Given the description of an element on the screen output the (x, y) to click on. 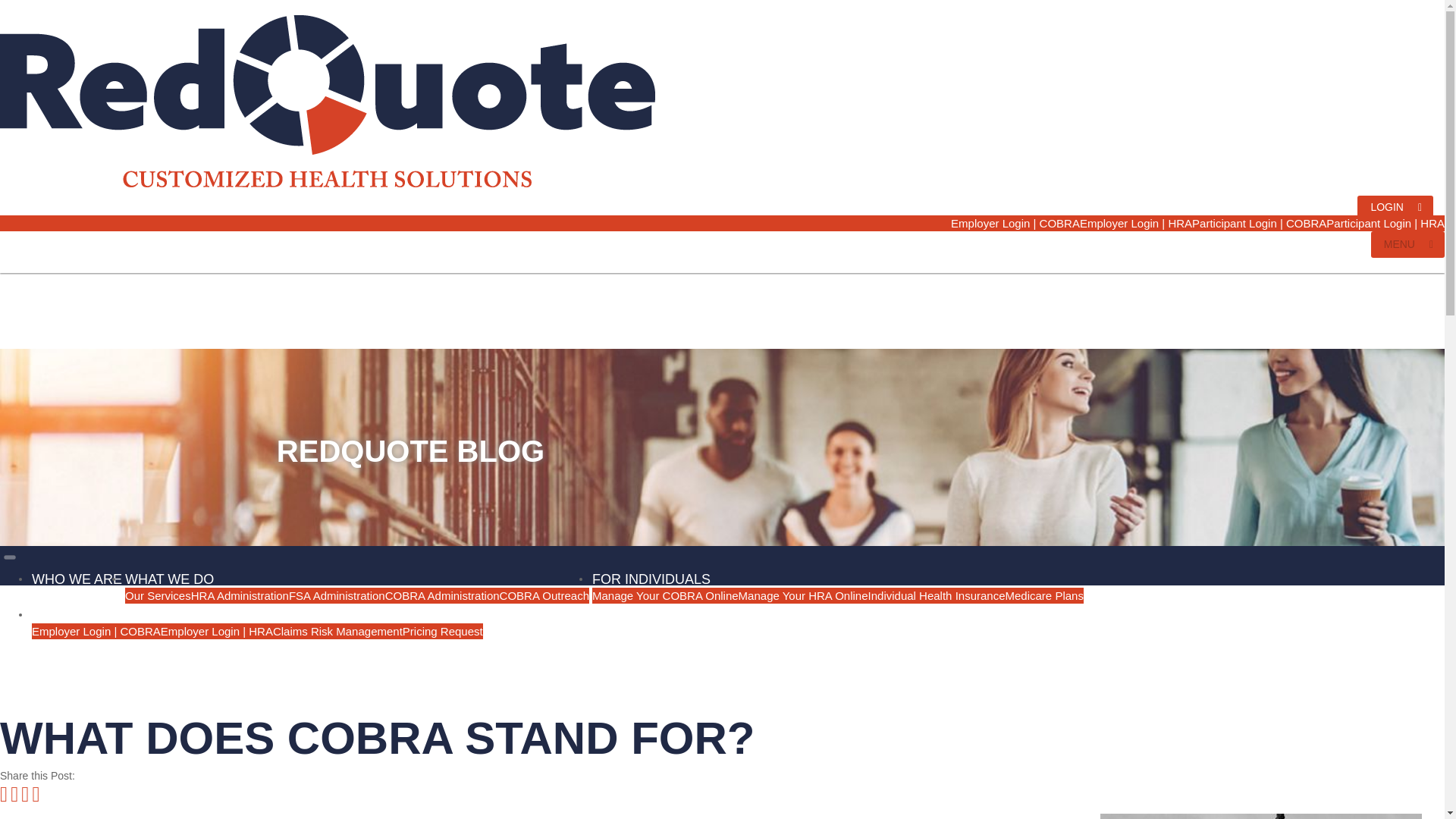
Manage Your COBRA Online (665, 594)
HRA Administration (239, 594)
FSA Administration (336, 594)
LOGIN (1394, 206)
Pricing Request (443, 631)
Claims Risk Management (338, 631)
Medicare Plans (1044, 594)
WHO WE ARE (77, 574)
COBRA Administration (442, 594)
COBRA Outreach (544, 594)
Our Services (157, 594)
Individual Health Insurance (936, 594)
Manage Your HRA Online (802, 594)
